Given the description of an element on the screen output the (x, y) to click on. 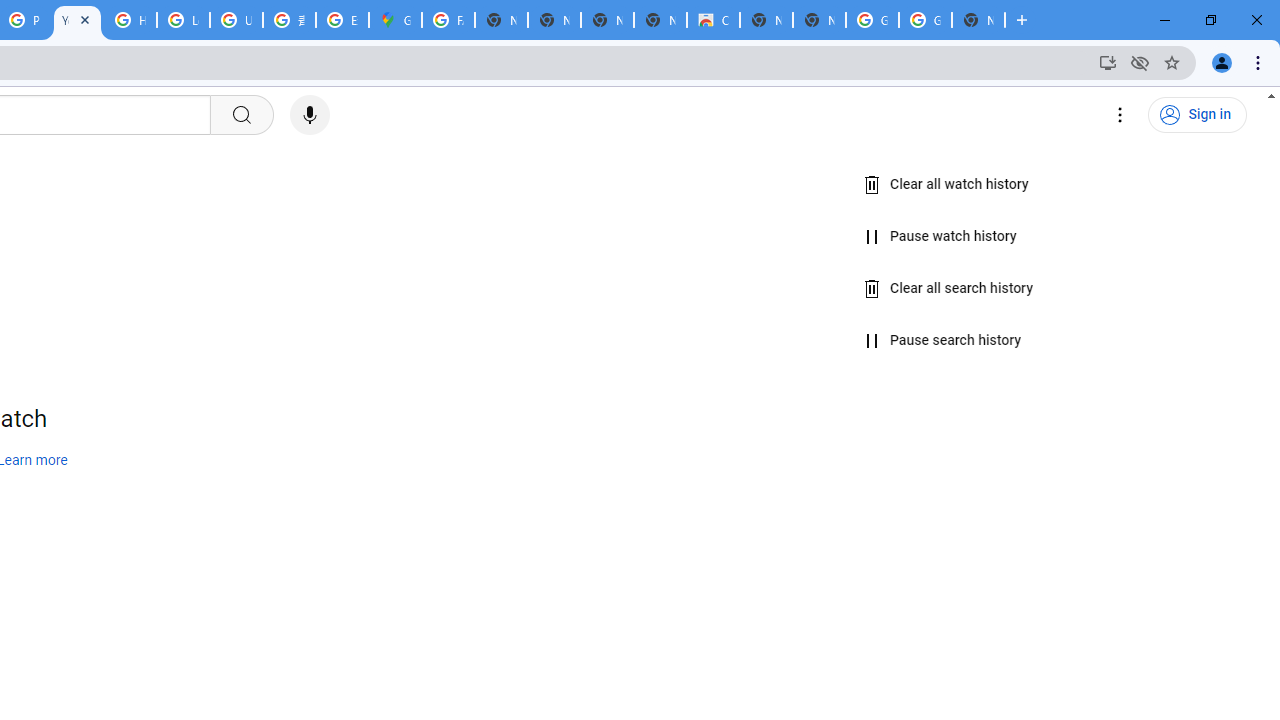
Third-party cookies blocked (1139, 62)
Google Images (872, 20)
Google Images (925, 20)
Clear all watch history (946, 185)
Search with your voice (309, 115)
Clear all search history (949, 288)
Explore new street-level details - Google Maps Help (342, 20)
YouTube (77, 20)
Settings (1119, 115)
Google Maps (395, 20)
